Given the description of an element on the screen output the (x, y) to click on. 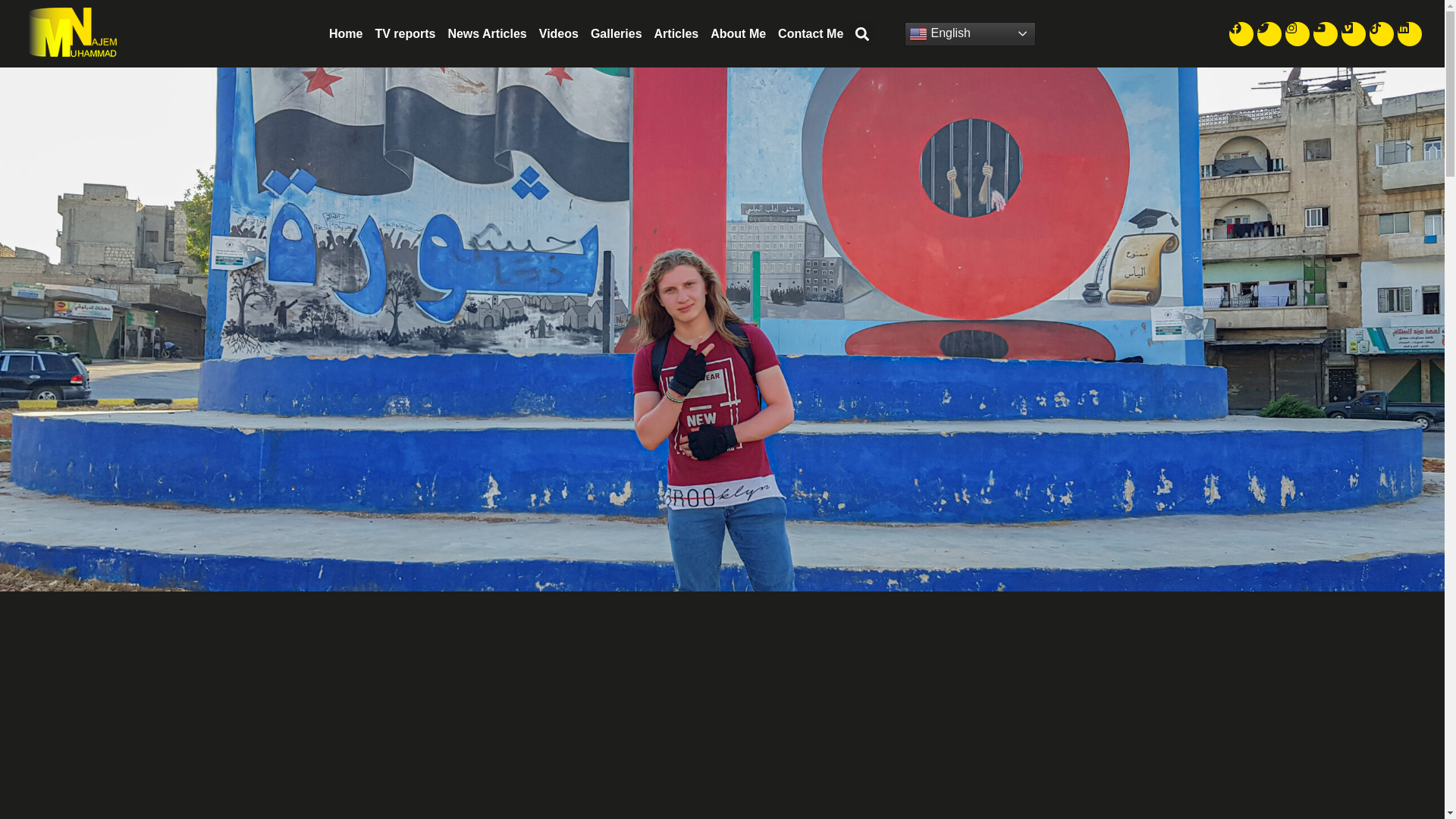
Home (345, 33)
Contact Me (809, 33)
Galleries (616, 33)
Videos (558, 33)
About Me (737, 33)
News Articles (486, 33)
Articles (675, 33)
TV reports (404, 33)
